Given the description of an element on the screen output the (x, y) to click on. 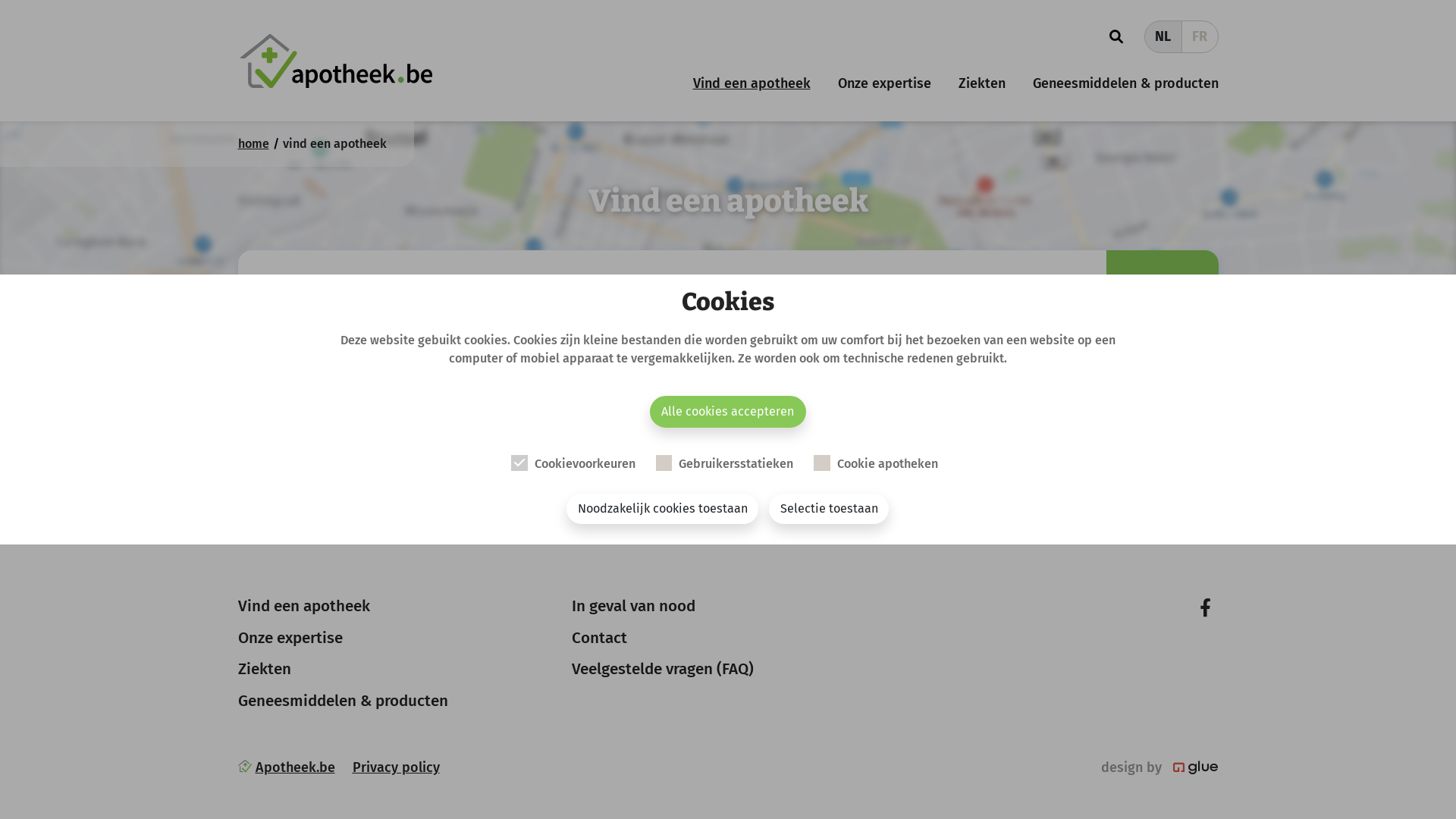
Geneesmiddelen & producten Element type: text (1124, 83)
In geval van nood Element type: text (633, 605)
Veelgestelde vragen (FAQ) Element type: text (662, 668)
Onze expertise Element type: text (290, 637)
Alle cookies accepteren Element type: text (727, 411)
Selectie toestaan Element type: text (828, 508)
Contact Element type: text (599, 637)
NL Element type: text (1162, 36)
Ziekten Element type: text (980, 83)
Geneesmiddelen & producten Element type: text (343, 700)
Apotheek.be Element type: text (295, 767)
Vind een apotheek Element type: text (304, 605)
Privacy policy Element type: text (401, 767)
Vind een apotheek Element type: text (750, 83)
FR Element type: text (1199, 36)
Noodzakelijk cookies toestaan Element type: text (662, 508)
home Element type: text (253, 143)
Zoeken Element type: text (880, 302)
Onze expertise Element type: text (884, 83)
Toon kaart Element type: text (1161, 302)
Gebruik mijn locatie Element type: text (1005, 301)
Ziekten Element type: text (264, 668)
